Given the description of an element on the screen output the (x, y) to click on. 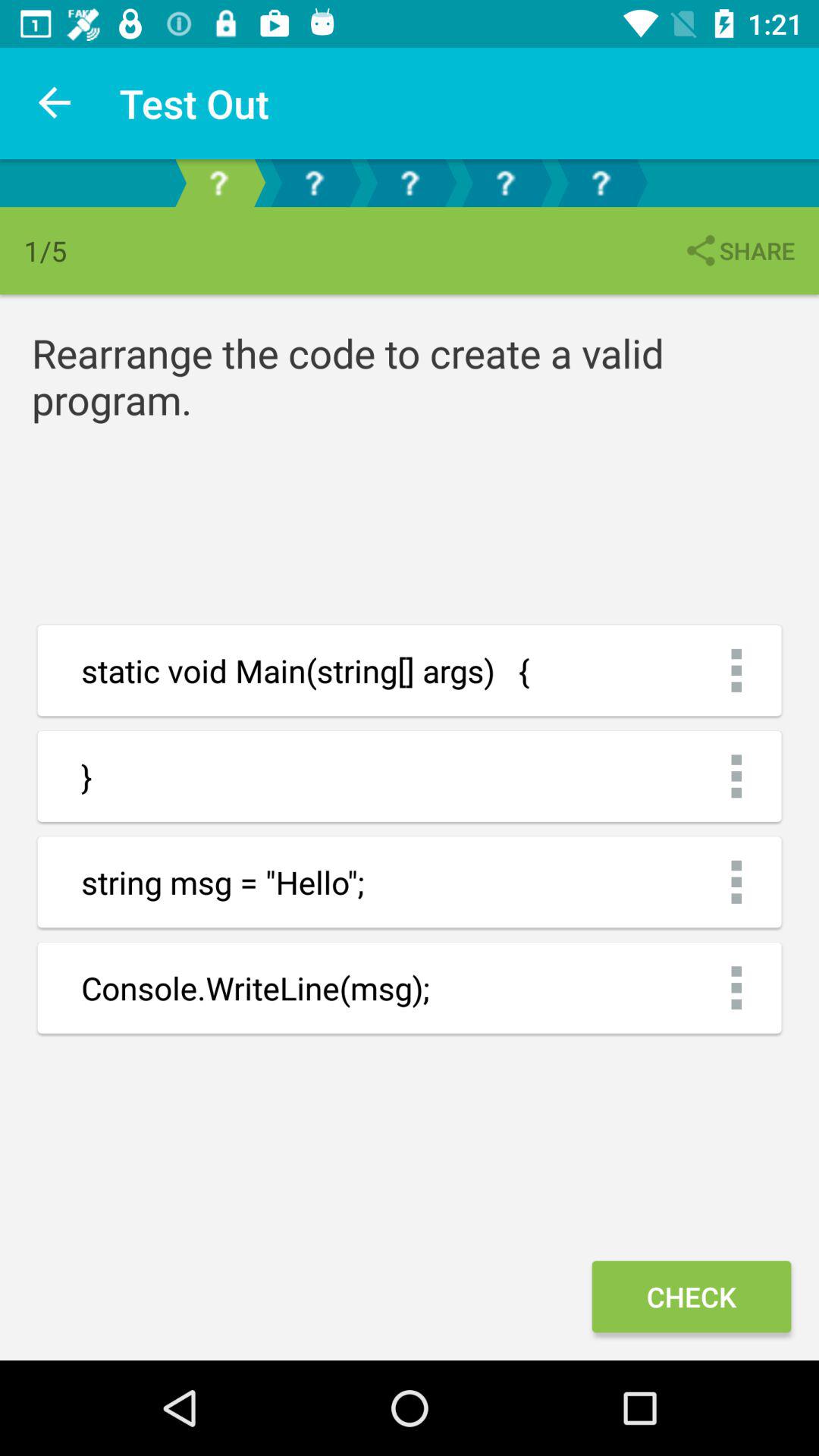
tap the share item (738, 250)
